Given the description of an element on the screen output the (x, y) to click on. 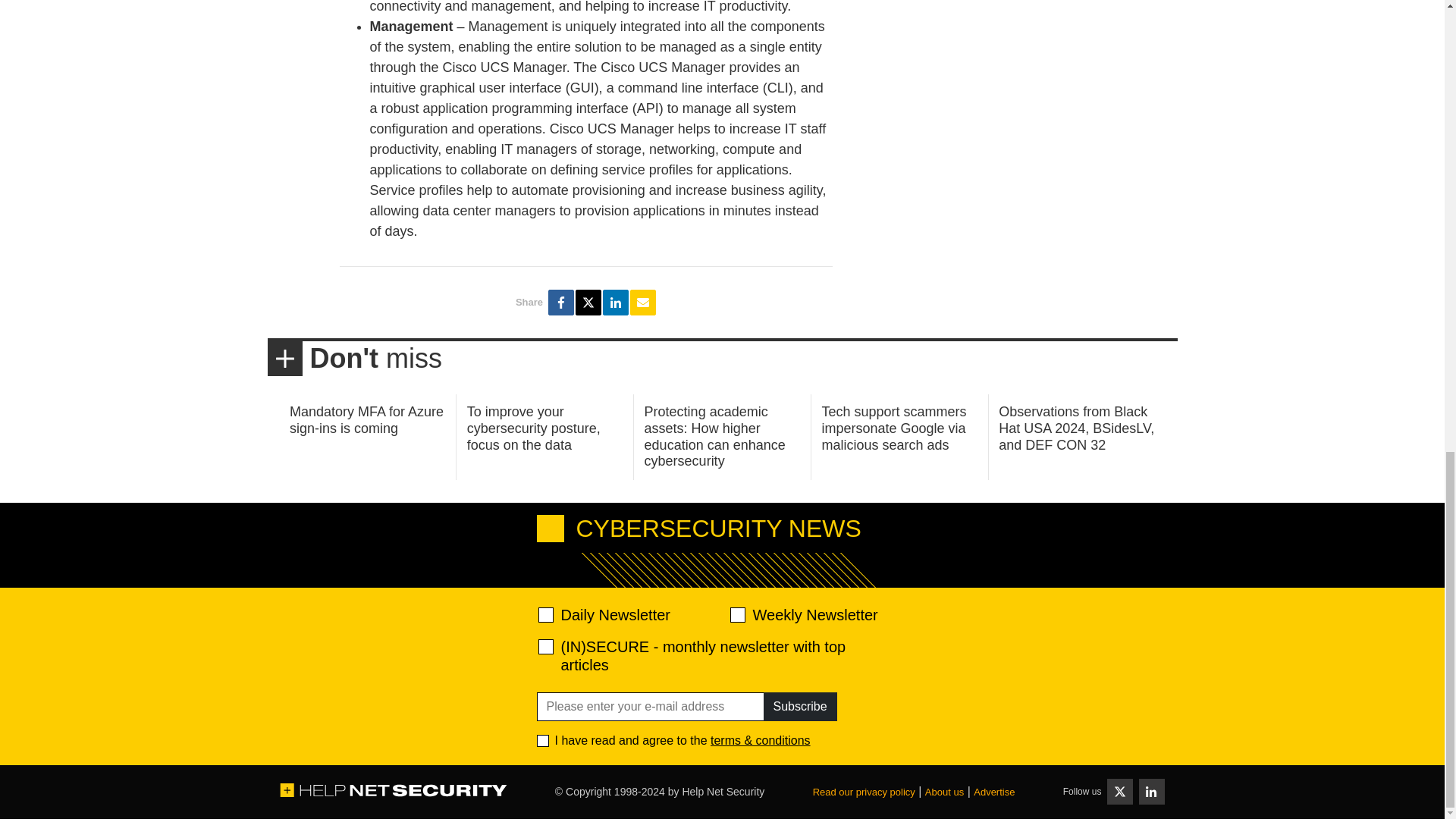
Subscribe (798, 706)
520ac2f639 (545, 614)
1 (542, 740)
d2d471aafa (736, 614)
To improve your cybersecurity posture, focus on the data (533, 428)
